Given the description of an element on the screen output the (x, y) to click on. 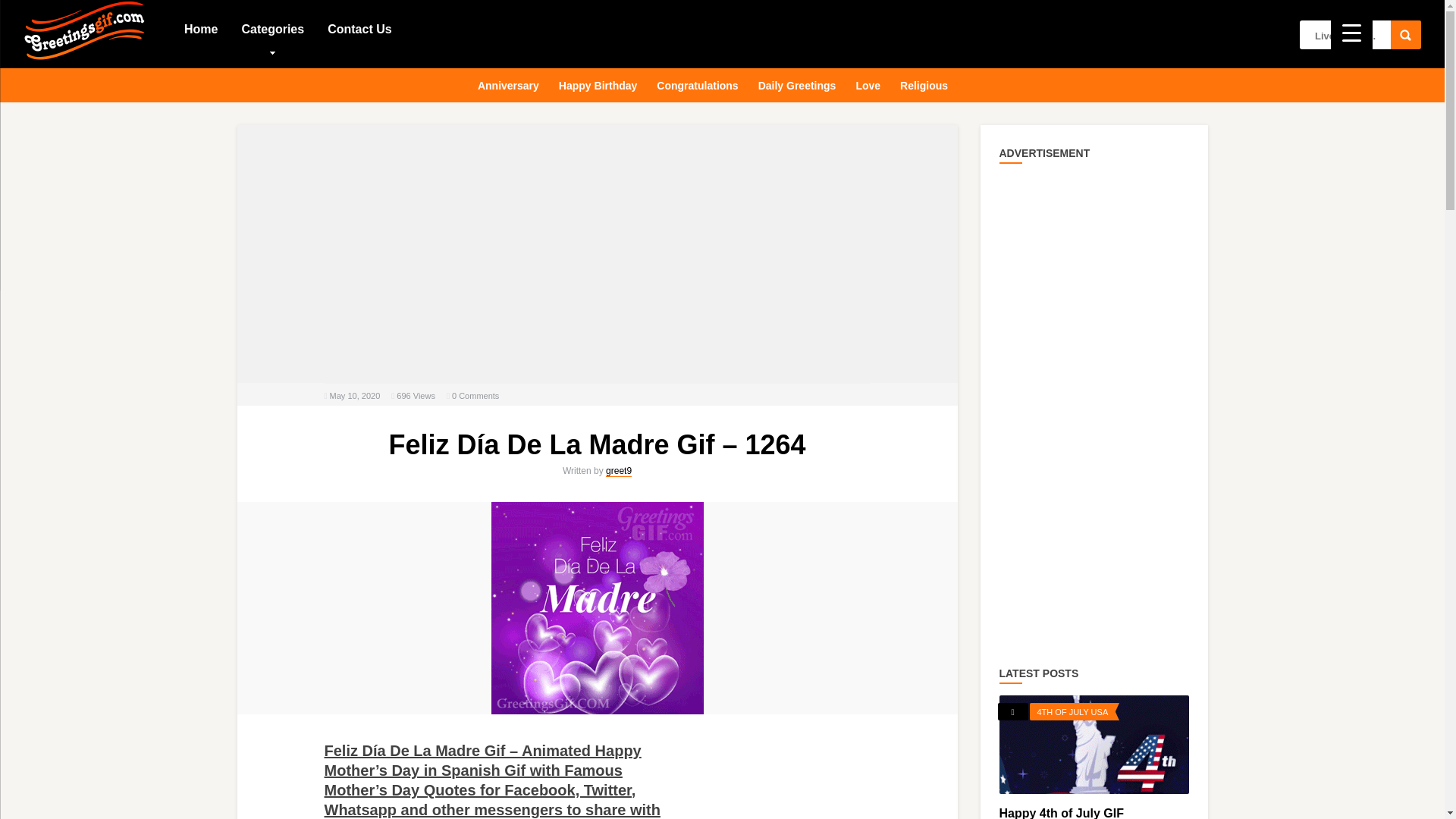
Daily Greetings (797, 83)
Congratulations (697, 83)
Search (1405, 34)
Categories (272, 28)
0 Comments (475, 395)
Happy Birthday (598, 83)
Advertisement (597, 254)
Contact Us (359, 28)
Home (200, 28)
Religious (923, 83)
Search (1405, 34)
Advertisement (817, 787)
Love (867, 83)
Posts by greet9 (618, 471)
Anniversary (507, 83)
